Given the description of an element on the screen output the (x, y) to click on. 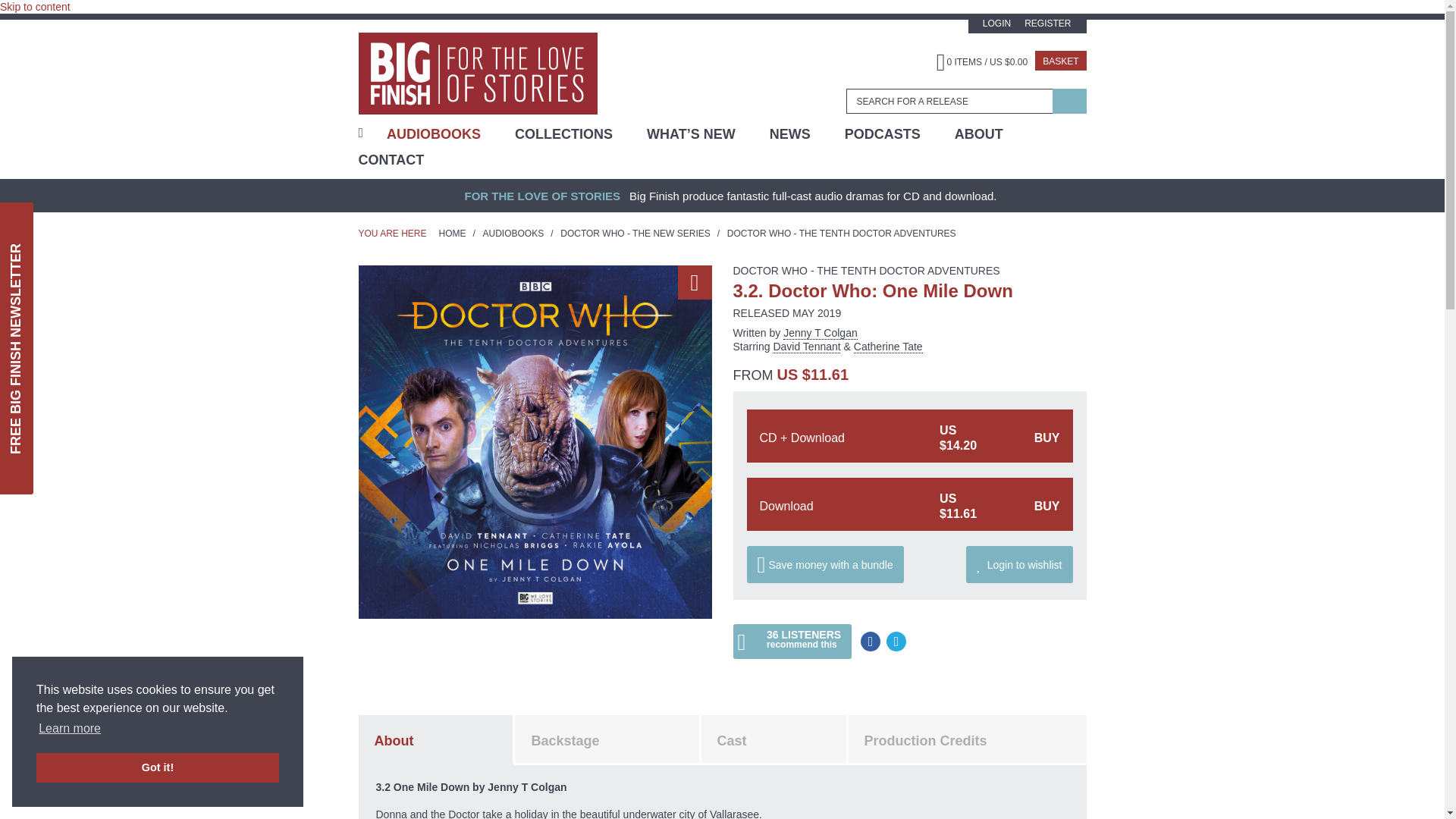
Doctor Who - The Tenth Doctor Adventures (865, 270)
Doctor Who: One Mile Down (534, 442)
Catherine Tate (888, 346)
Skip to content (34, 6)
David Tennant (813, 346)
Doctor Who - The New Series (635, 233)
Got it! (157, 767)
REGISTER (1047, 22)
FREE BIG FINISH NEWSLETTER (136, 227)
Doctor Who - The Tenth Doctor Adventures (841, 233)
AUDIOBOOKS (433, 133)
Search (1069, 100)
Jenny T Colgan (820, 332)
LOGIN (996, 22)
Learn more (69, 728)
